Given the description of an element on the screen output the (x, y) to click on. 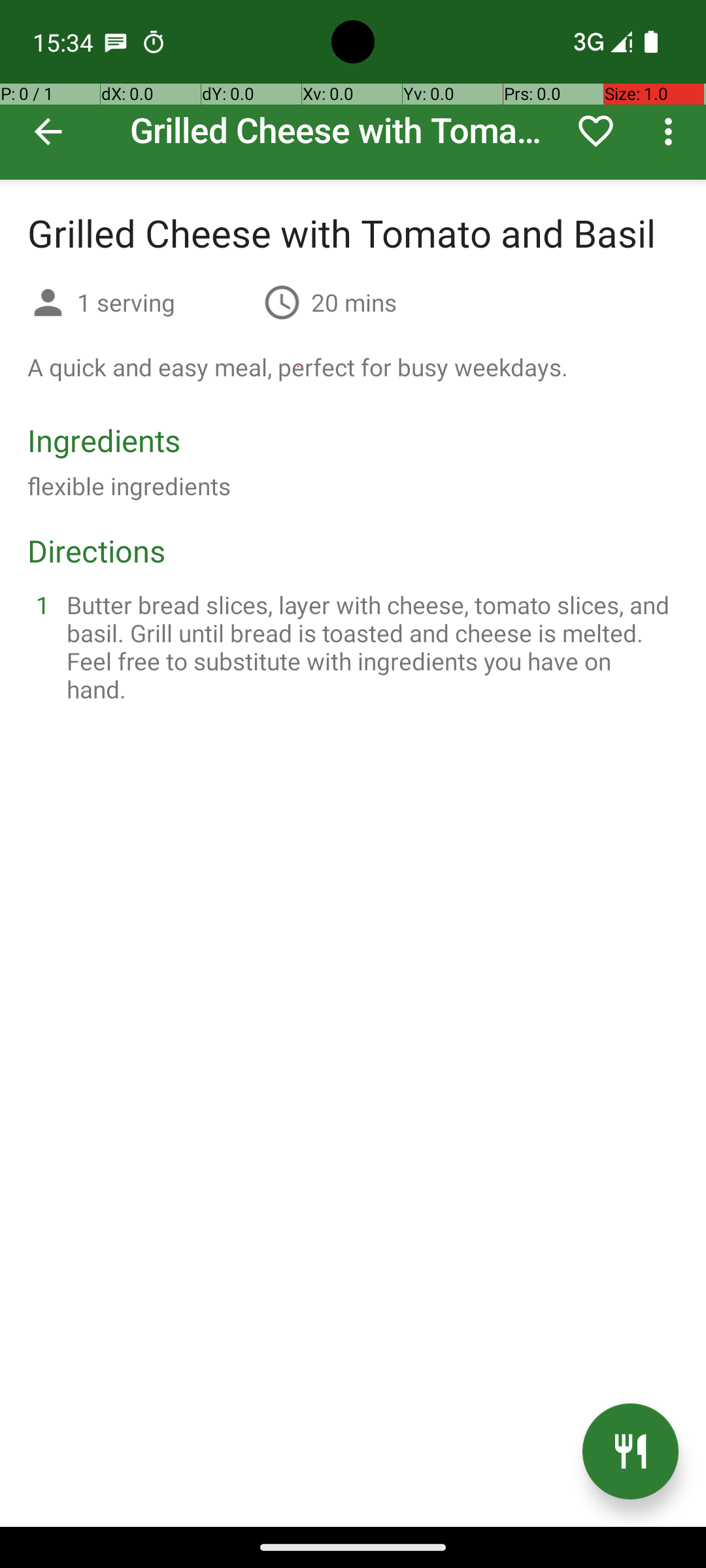
Butter bread slices, layer with cheese, tomato slices, and basil. Grill until bread is toasted and cheese is melted. Feel free to substitute with ingredients you have on hand. Element type: android.widget.TextView (368, 646)
